Given the description of an element on the screen output the (x, y) to click on. 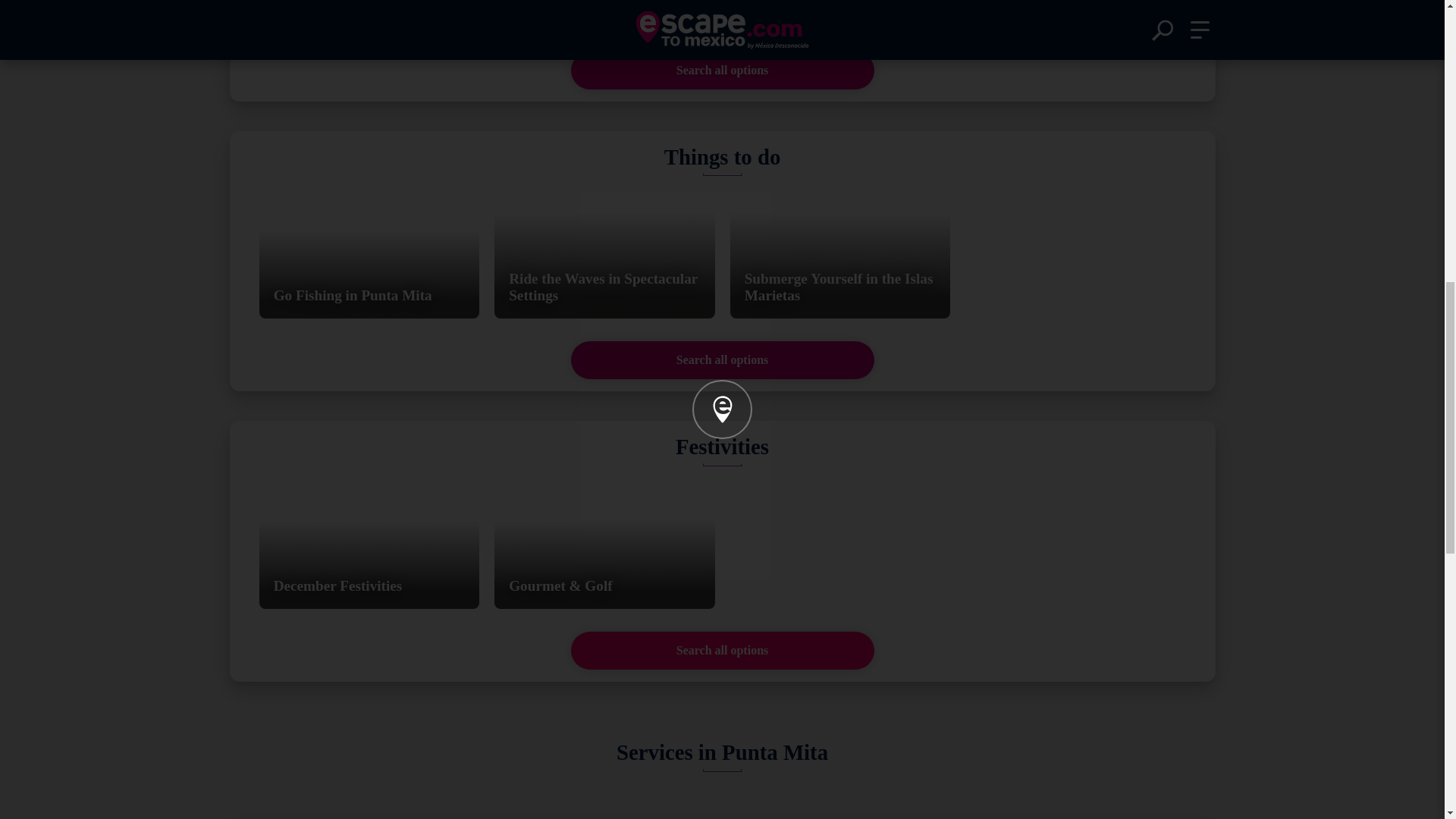
Search all options (721, 70)
Olive Ridley Sea Turtles (369, 13)
Whales in Their Natural Habitat (839, 13)
Search all options (721, 360)
December Festivities (369, 542)
Go Fishing in Punta Mita (369, 252)
Submerge Yourself in the Islas Marietas (839, 252)
Ride the Waves in Spectacular Settings (604, 252)
Search all options (721, 650)
